Given the description of an element on the screen output the (x, y) to click on. 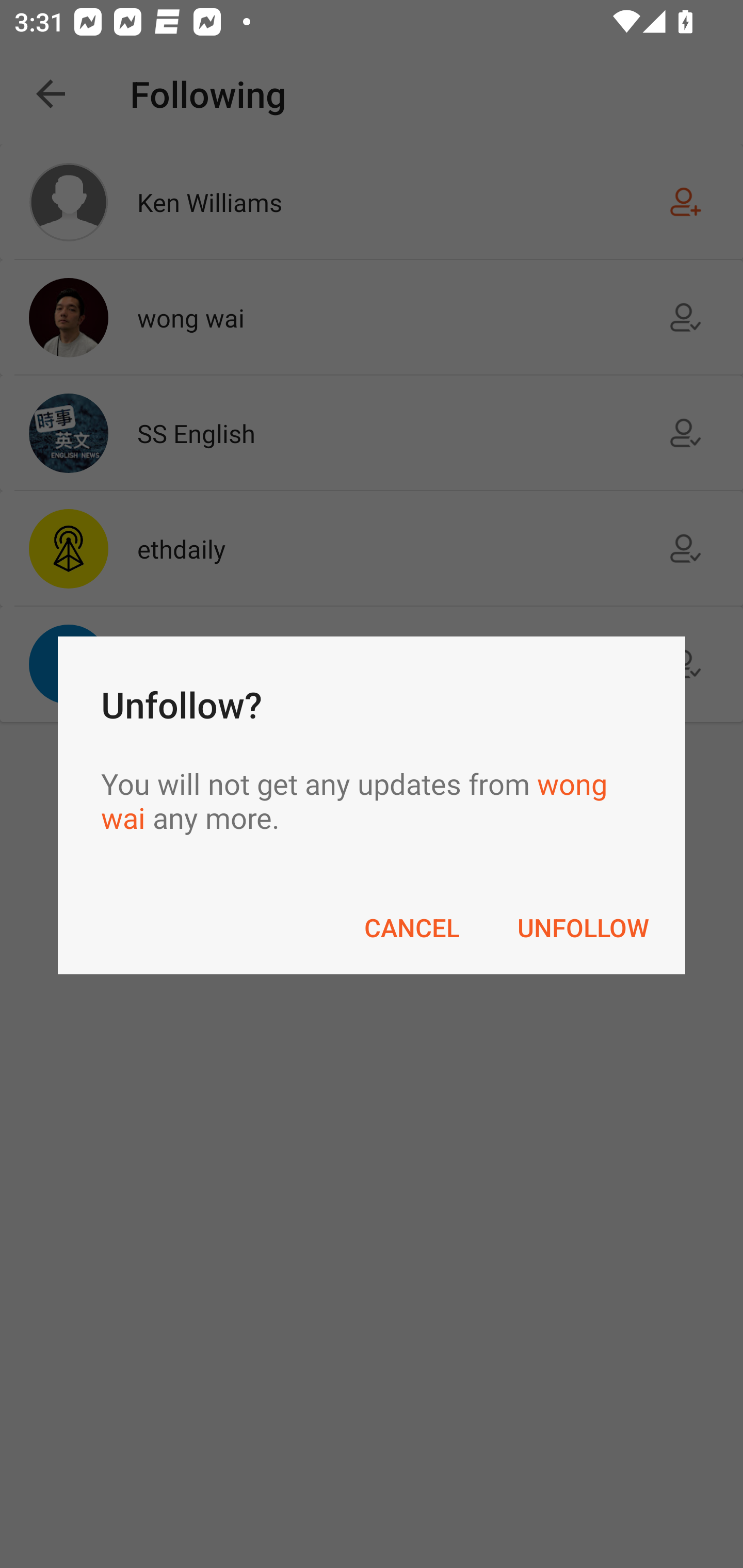
CANCEL (411, 927)
UNFOLLOW (582, 927)
